Given the description of an element on the screen output the (x, y) to click on. 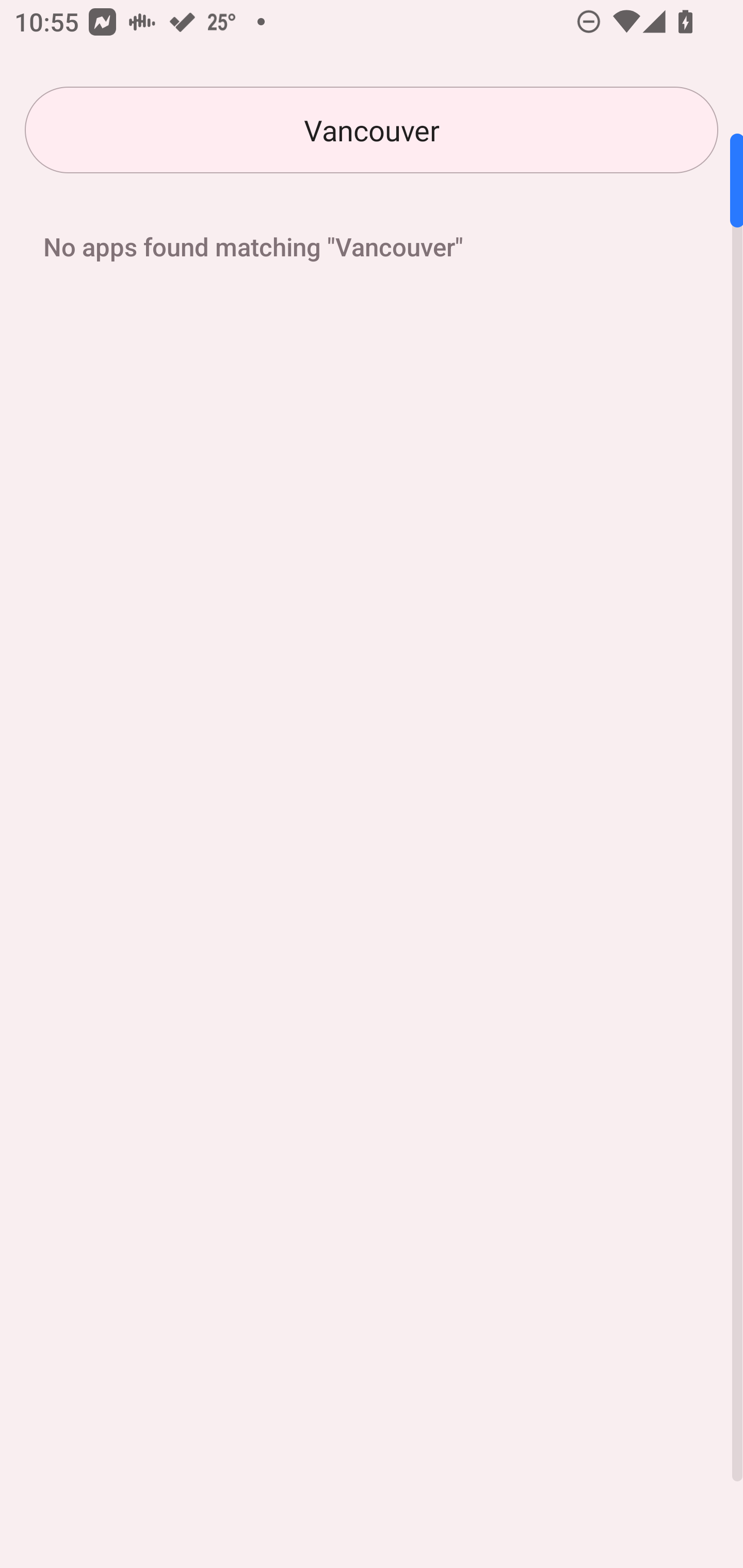
Vancouver (371, 130)
